Given the description of an element on the screen output the (x, y) to click on. 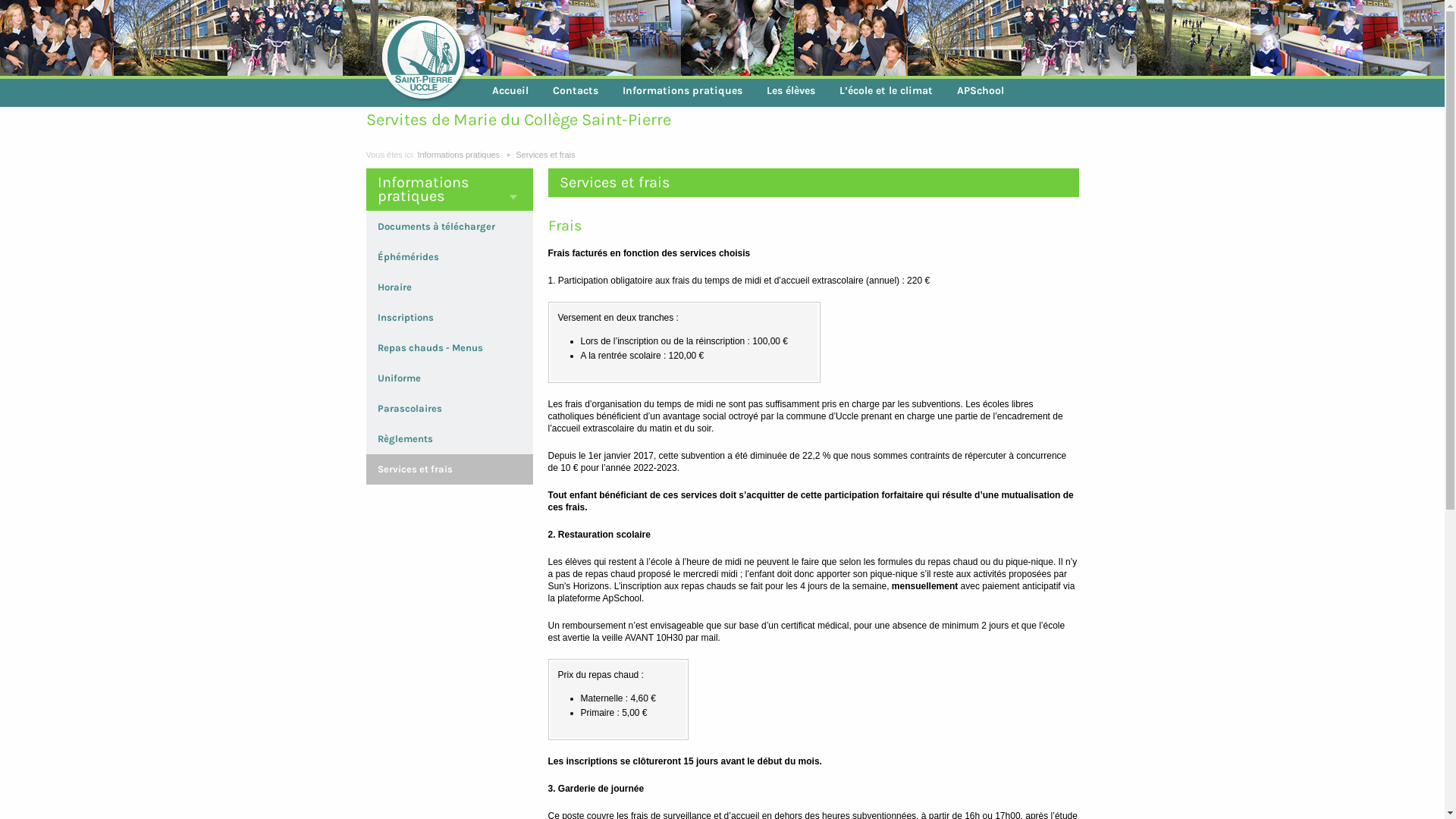
Parascolaires Element type: text (409, 408)
Services et frais Element type: text (414, 468)
Informations pratiques Element type: text (681, 90)
Inscriptions Element type: text (405, 317)
Accueil Element type: text (509, 90)
APSchool Element type: text (980, 90)
Frais Element type: text (806, 225)
Services et frais Element type: text (544, 154)
Horaire Element type: text (394, 286)
Uniforme Element type: text (398, 377)
Repas chauds - Menus Element type: text (430, 347)
Informations pratiques Element type: text (458, 154)
Contacts Element type: text (574, 90)
